Given the description of an element on the screen output the (x, y) to click on. 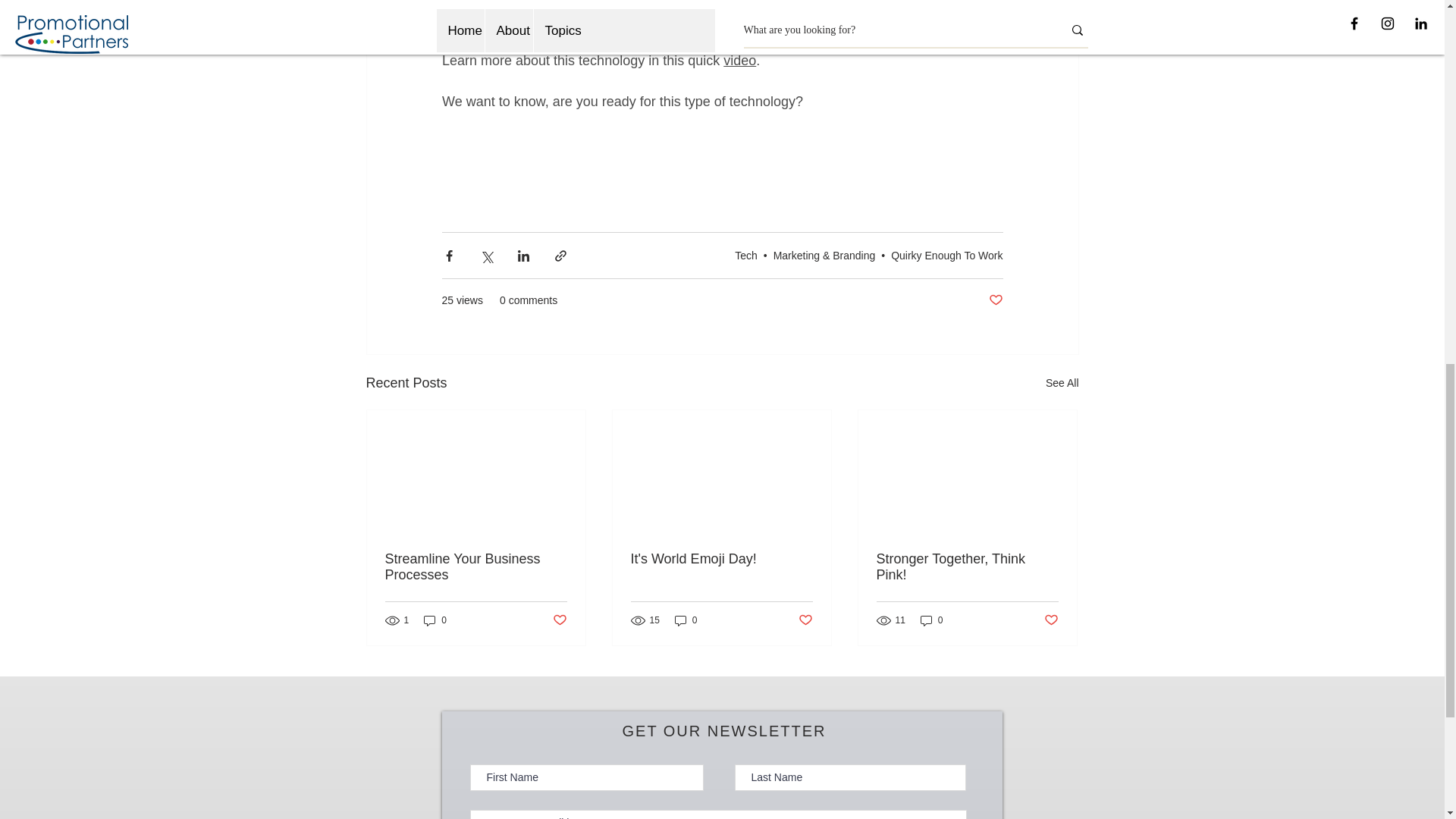
Quirky Enough To Work (947, 255)
See All (1061, 382)
Post not marked as liked (995, 300)
Tech (746, 255)
video (739, 60)
Streamline Your Business Processes (476, 567)
Popl (545, 19)
0 (435, 620)
